Given the description of an element on the screen output the (x, y) to click on. 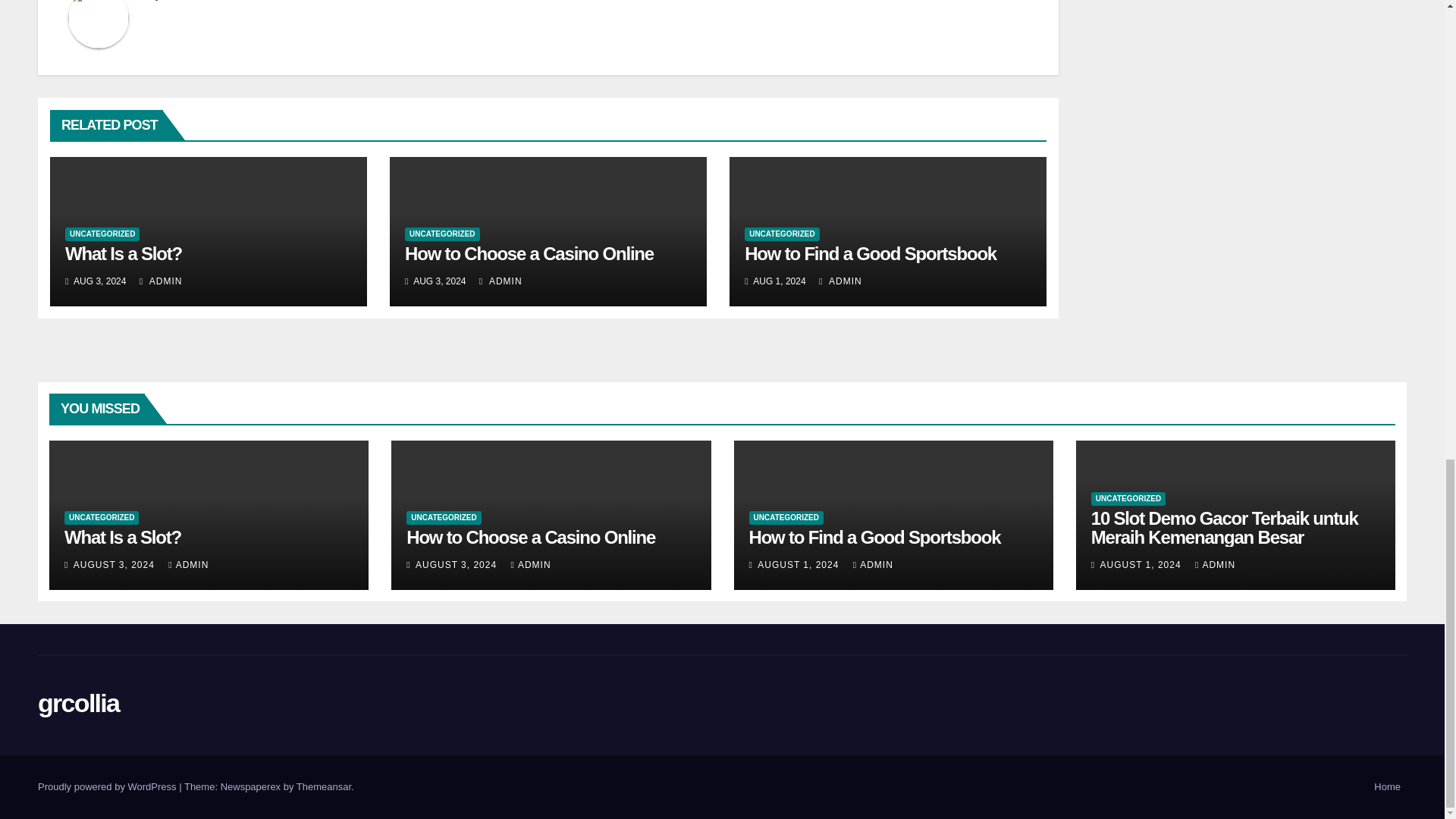
Permalink to: What Is a Slot? (122, 537)
ADMIN (500, 281)
What Is a Slot? (123, 253)
Home (1387, 786)
How to Choose a Casino Online (528, 253)
Permalink to: How to Choose a Casino Online (530, 537)
Permalink to: How to Find a Good Sportsbook (869, 253)
UNCATEGORIZED (441, 233)
UNCATEGORIZED (781, 233)
Permalink to: What Is a Slot? (123, 253)
ADMIN (161, 281)
UNCATEGORIZED (102, 233)
Permalink to: How to Choose a Casino Online (528, 253)
Permalink to: How to Find a Good Sportsbook (875, 537)
